Given the description of an element on the screen output the (x, y) to click on. 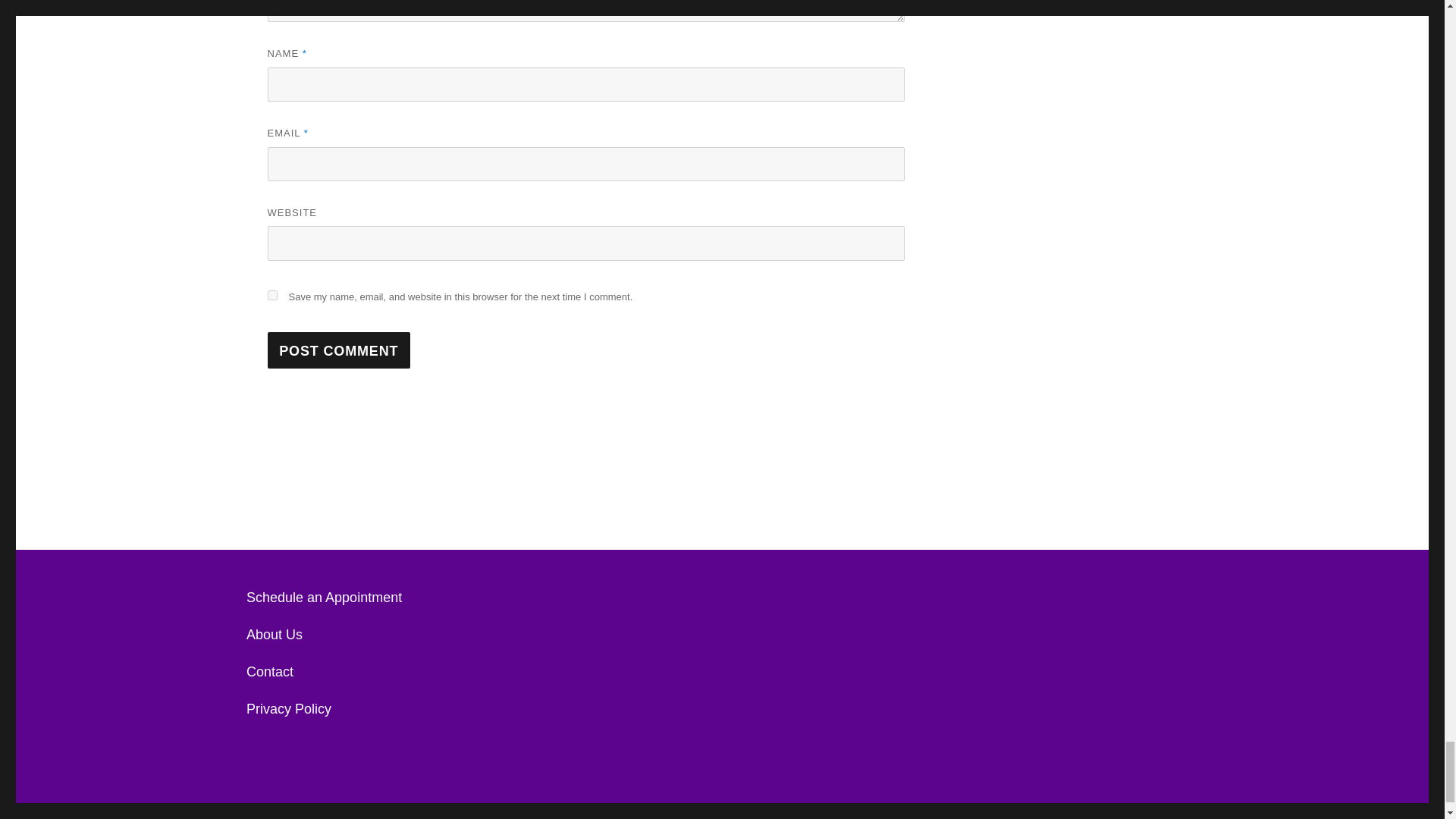
Post Comment (338, 349)
yes (271, 295)
Post Comment (338, 349)
